Given the description of an element on the screen output the (x, y) to click on. 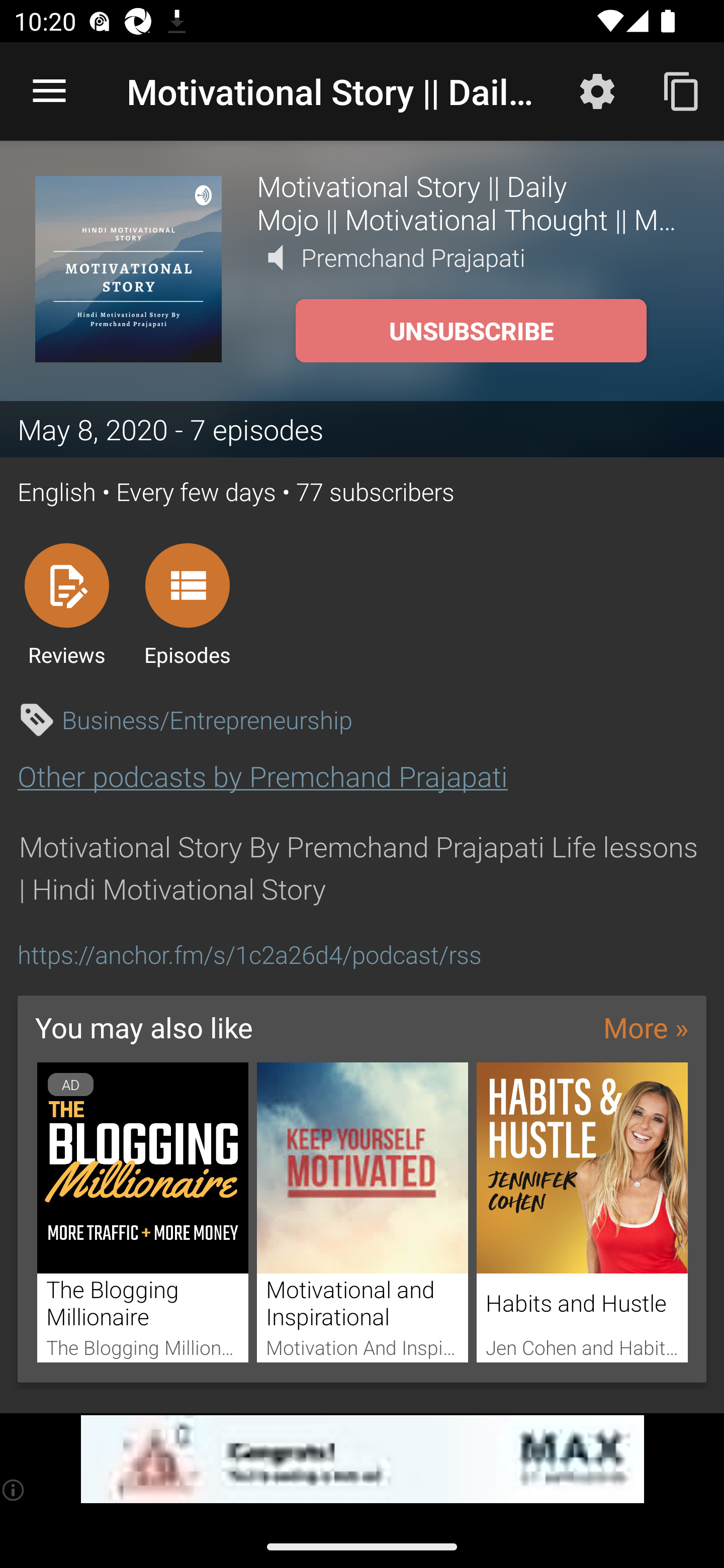
Open navigation sidebar (49, 91)
Settings (597, 90)
Copy feed url to clipboard (681, 90)
UNSUBSCRIBE (470, 330)
Reviews (66, 604)
Episodes (187, 604)
Other podcasts by Premchand Prajapati (262, 775)
More » (645, 1026)
Habits and Hustle Jen Cohen and Habit Nest (581, 1212)
app-monetization (362, 1459)
(i) (14, 1489)
